Given the description of an element on the screen output the (x, y) to click on. 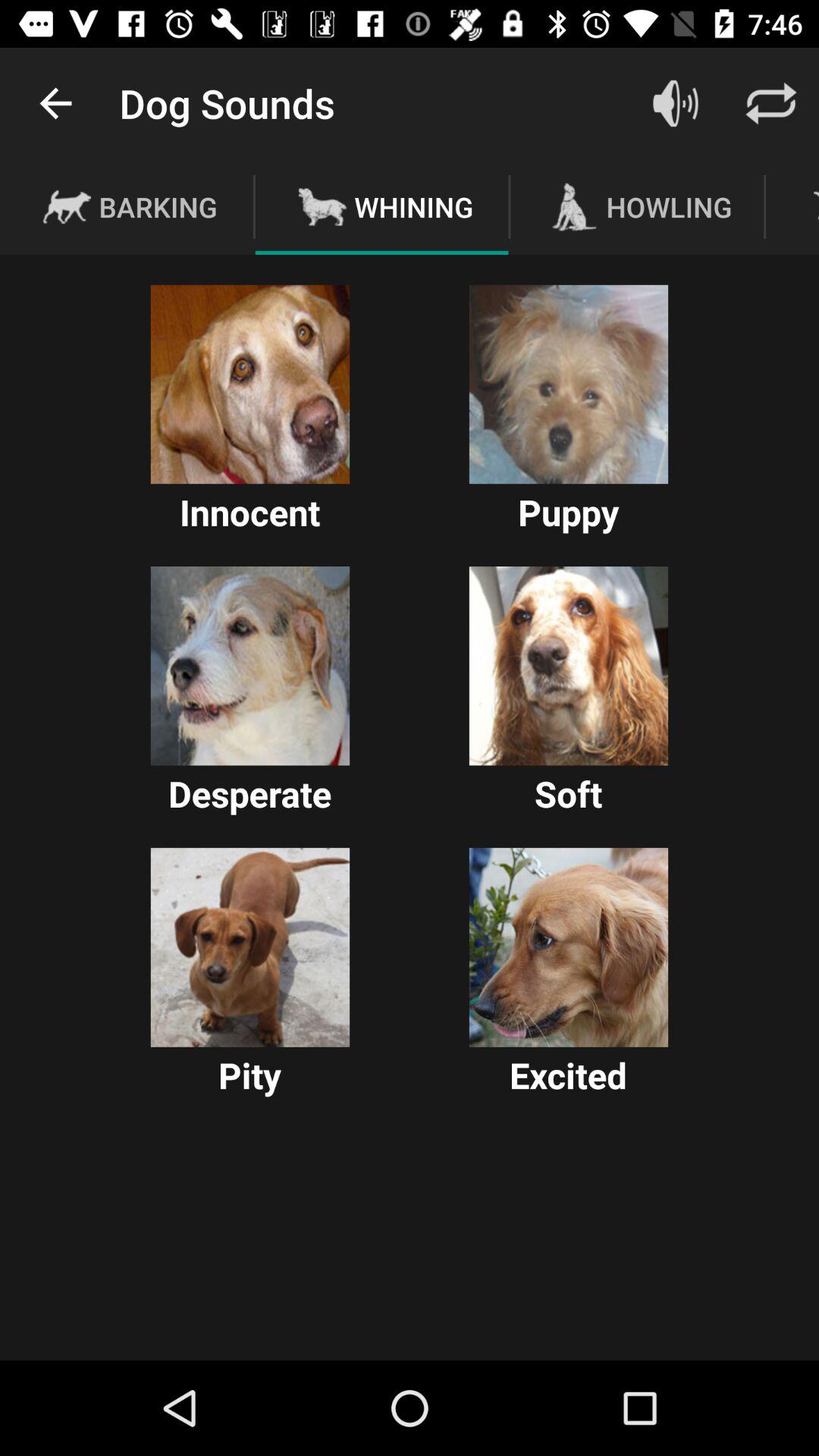
a weiner god picture labeled pity (249, 947)
